Given the description of an element on the screen output the (x, y) to click on. 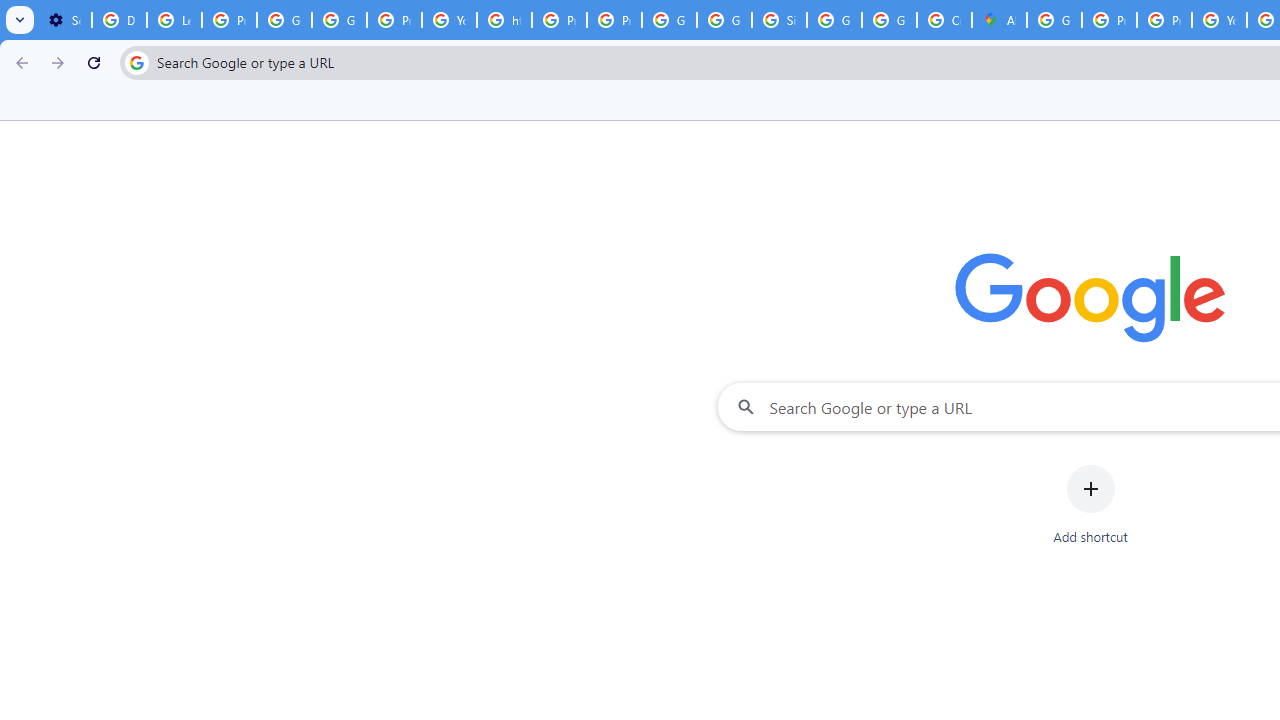
Privacy Help Center - Policies Help (1108, 20)
YouTube (449, 20)
Privacy Help Center - Policies Help (559, 20)
Sign in - Google Accounts (779, 20)
YouTube (1218, 20)
Delete photos & videos - Computer - Google Photos Help (119, 20)
Google Account Help (284, 20)
